Given the description of an element on the screen output the (x, y) to click on. 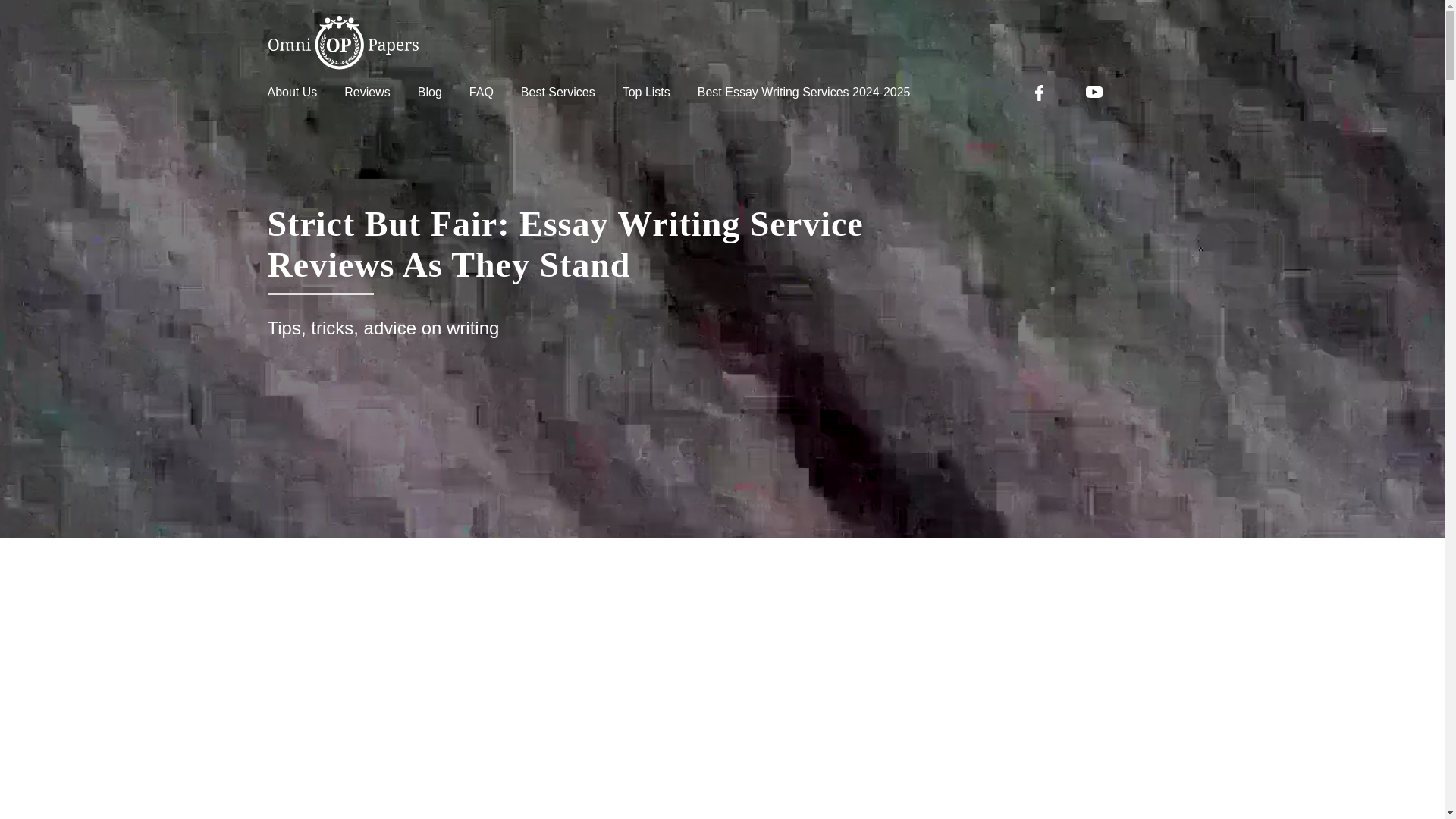
Best Essay Writing Services 2024-2025 (804, 91)
FAQ (480, 91)
Twitter (1153, 92)
Youtube (1094, 92)
About Us (291, 91)
Best Services (558, 91)
Blog (429, 91)
Twitter (1153, 92)
Top Lists (646, 91)
Reviews (366, 91)
